Given the description of an element on the screen output the (x, y) to click on. 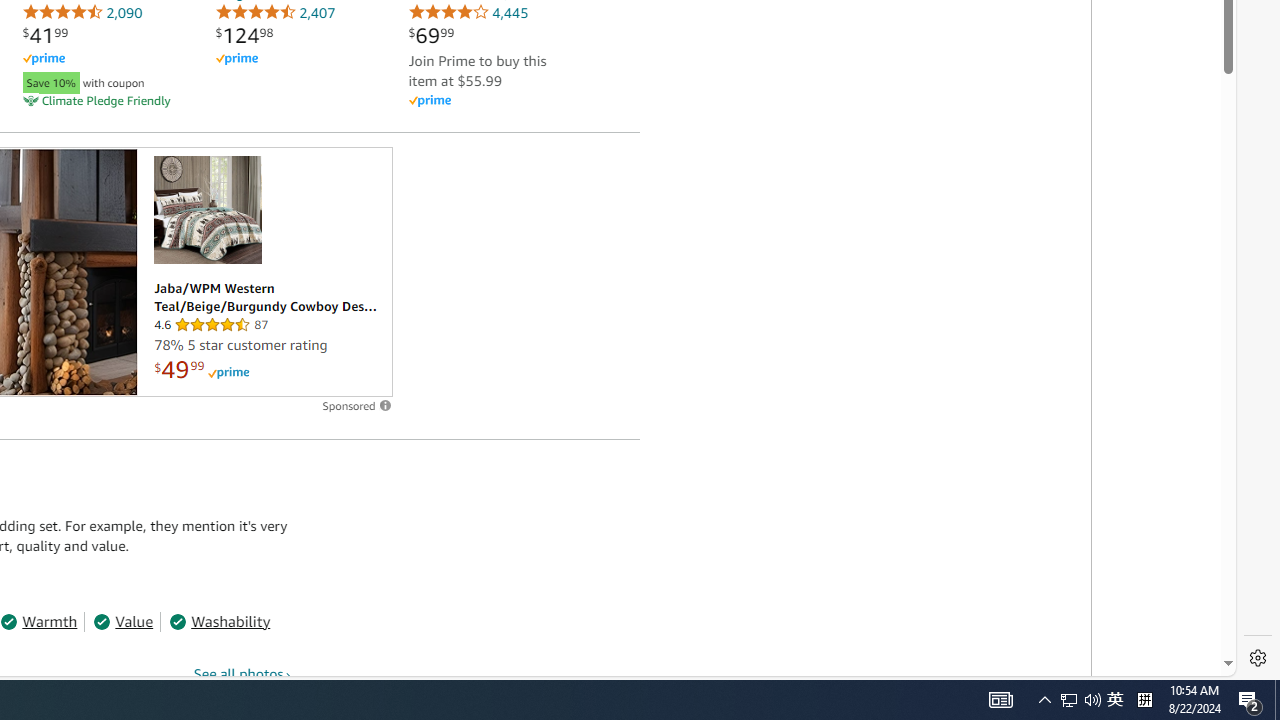
Join Prime to buy this item at $55.99 (477, 70)
$124.98 (244, 35)
$69.99 (431, 35)
